Given the description of an element on the screen output the (x, y) to click on. 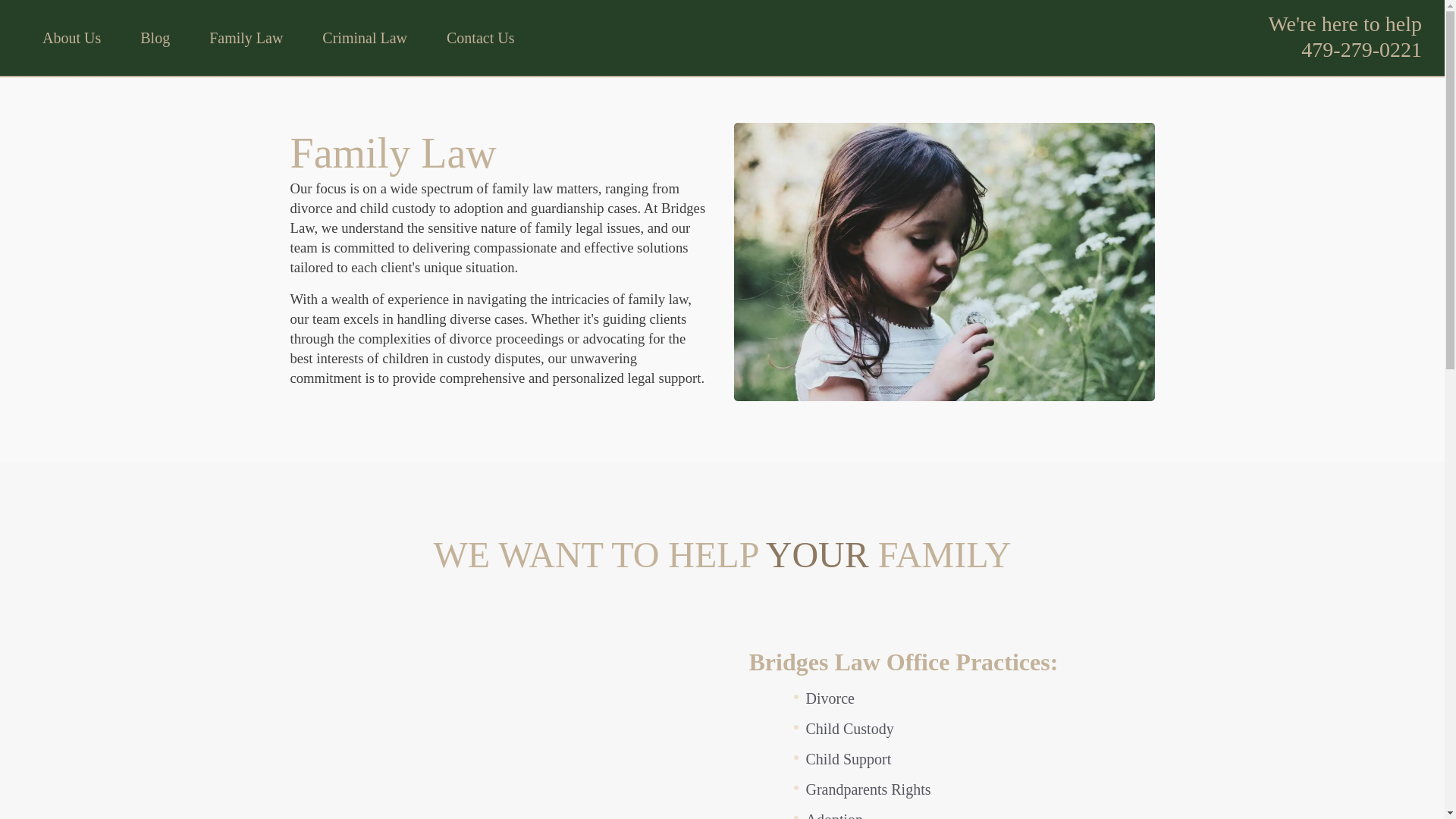
479-279-0221 (1361, 49)
Family Law (245, 37)
Contact Us (480, 37)
Criminal Law (364, 37)
About Us (71, 37)
Blog (154, 37)
